Given the description of an element on the screen output the (x, y) to click on. 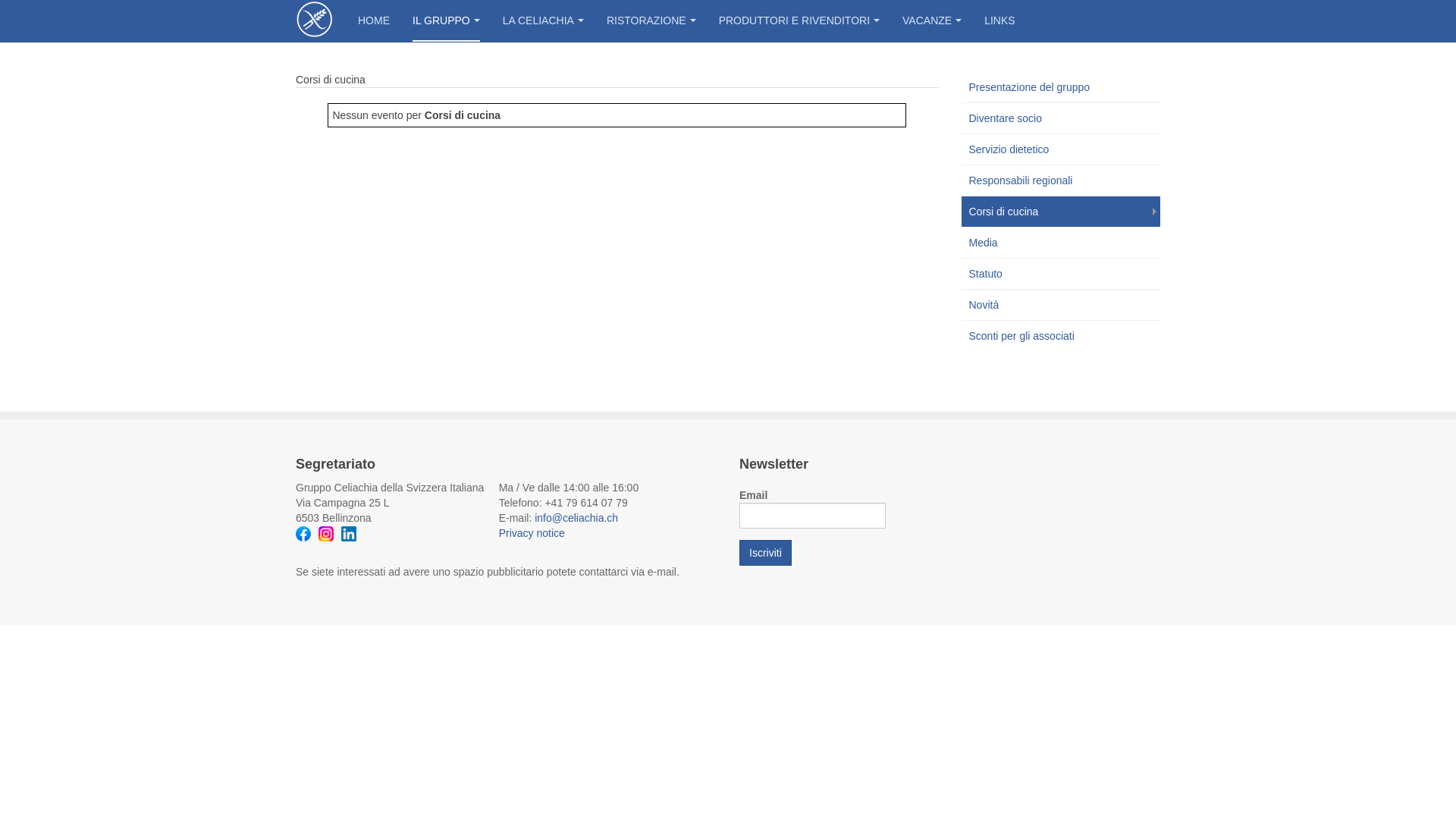
Media Element type: text (1061, 242)
LINKS Element type: text (999, 20)
Responsabili regionali Element type: text (1061, 180)
Iscriviti Element type: text (765, 552)
VACANZE Element type: text (931, 20)
PRODUTTORI E RIVENDITORI Element type: text (798, 20)
HOME Element type: text (373, 20)
Privacy notice Element type: text (531, 533)
LA CELIACHIA Element type: text (542, 20)
Statuto Element type: text (1061, 273)
Sconti per gli associati Element type: text (1061, 335)
Servizio dietetico Element type: text (1061, 149)
RISTORAZIONE Element type: text (651, 20)
Corsi di cucina Element type: text (1061, 211)
Gruppo Celiachia della Svizzera Italiana Element type: hover (315, 19)
Presentazione del gruppo Element type: text (1061, 87)
IL GRUPPO Element type: text (446, 20)
Diventare socio Element type: text (1061, 118)
info@celiachia.ch Element type: text (576, 517)
